Given the description of an element on the screen output the (x, y) to click on. 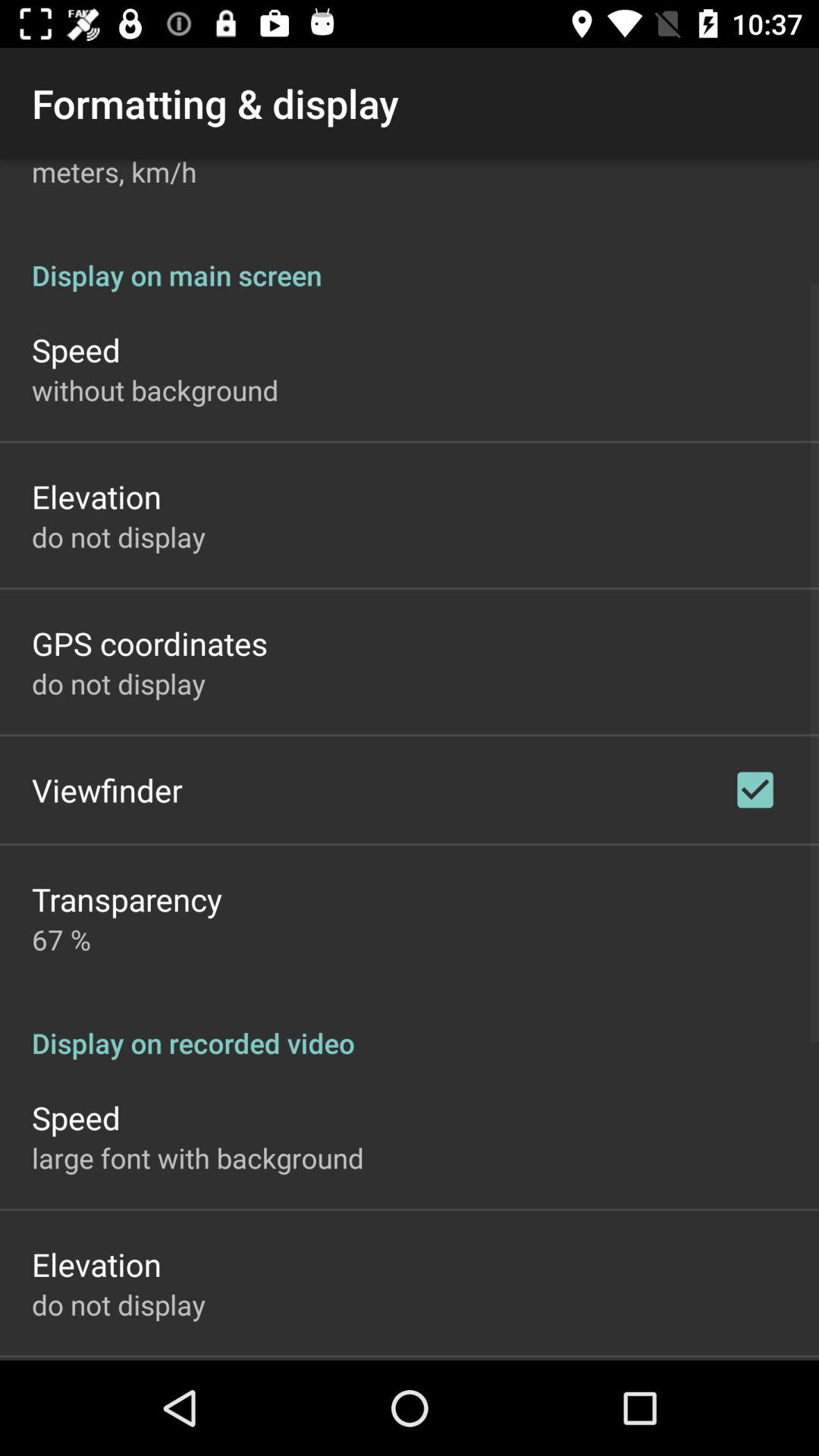
press icon above elevation app (197, 1157)
